Given the description of an element on the screen output the (x, y) to click on. 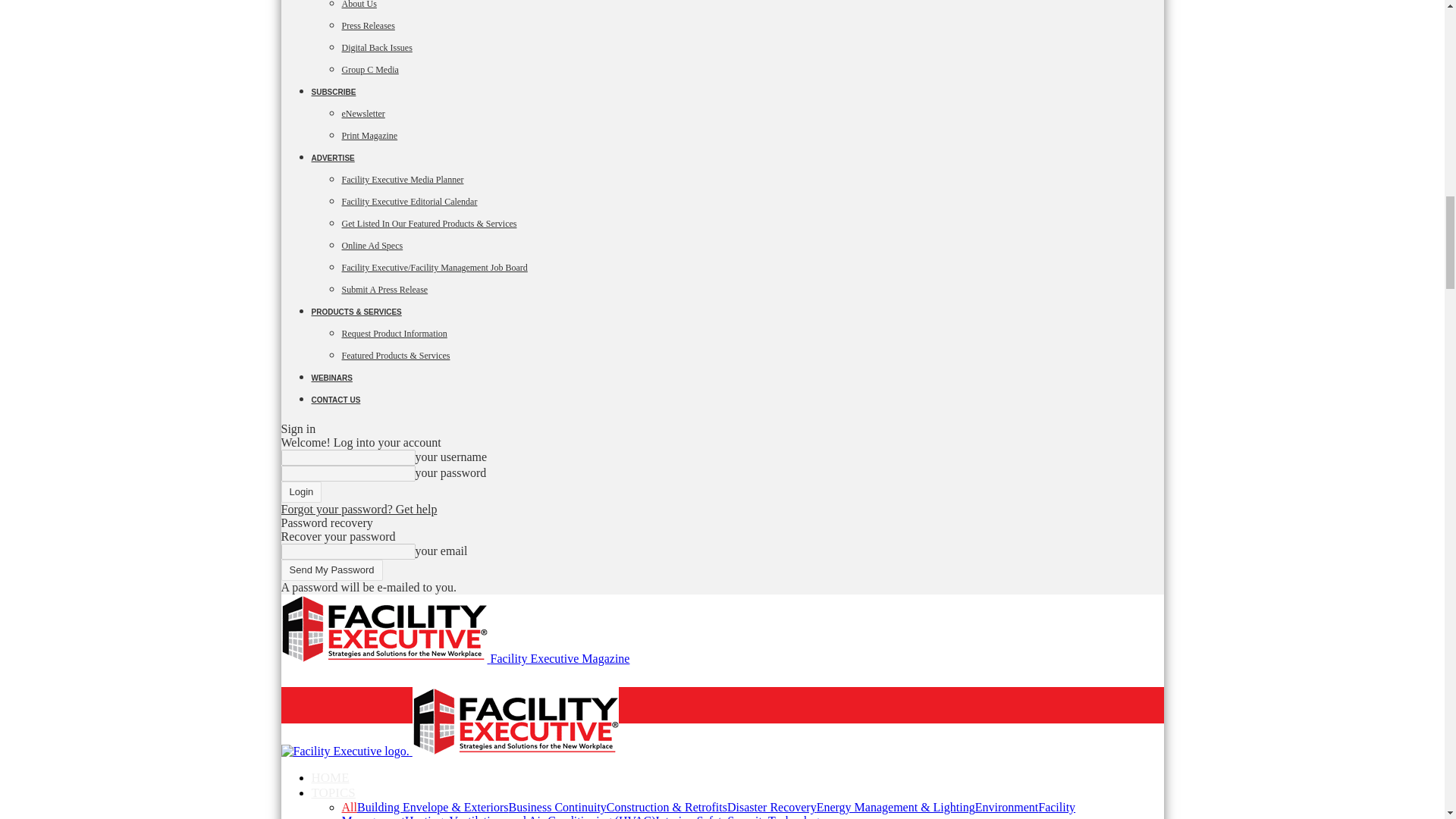
Strategies and Solutions for the New Workplace (515, 721)
Strategies and Solutions for the New Workplace (345, 751)
Login (301, 491)
Send My Password (331, 569)
Strategies and Solutions for the New Workplace (383, 628)
